Given the description of an element on the screen output the (x, y) to click on. 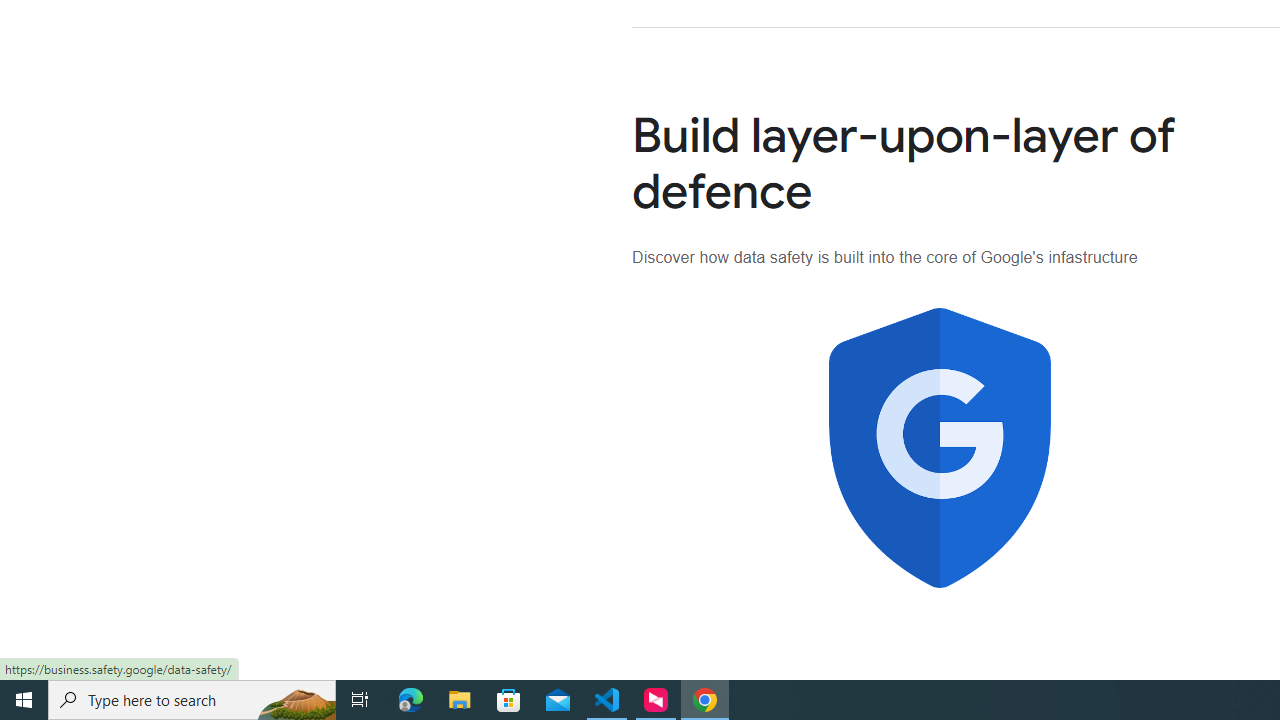
Blue shield showing Safer with Google (940, 448)
